Given the description of an element on the screen output the (x, y) to click on. 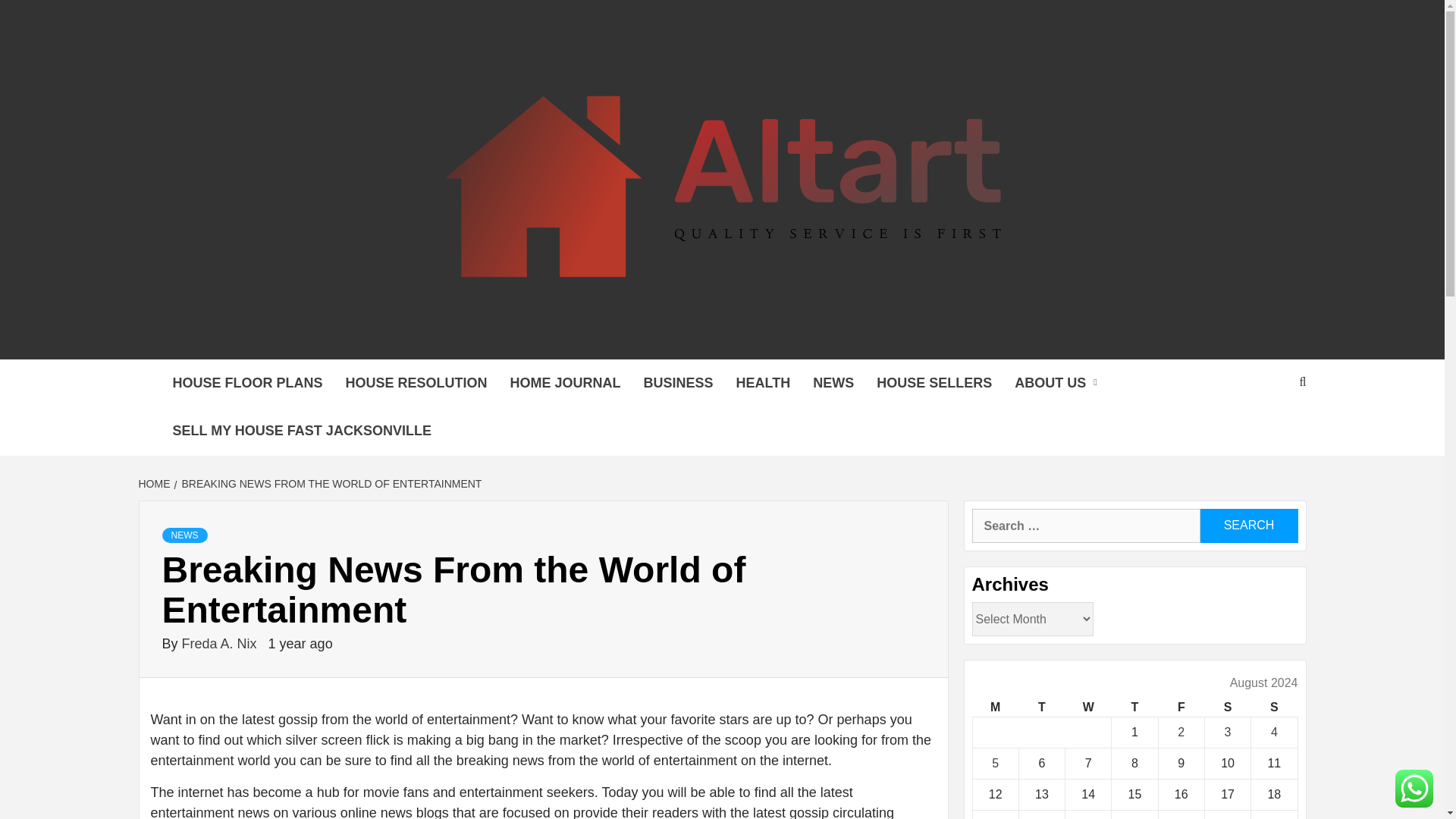
HOUSE FLOOR PLANS (246, 383)
Thursday (1134, 707)
ALTART (288, 340)
Saturday (1227, 707)
ABOUT US (1059, 383)
3 (1227, 731)
HOME JOURNAL (565, 383)
5 (994, 762)
Wednesday (1088, 707)
BREAKING NEWS FROM THE WORLD OF ENTERTAINMENT (330, 483)
HEALTH (763, 383)
NEWS (833, 383)
BUSINESS (678, 383)
4 (1274, 731)
NEWS (184, 534)
